Given the description of an element on the screen output the (x, y) to click on. 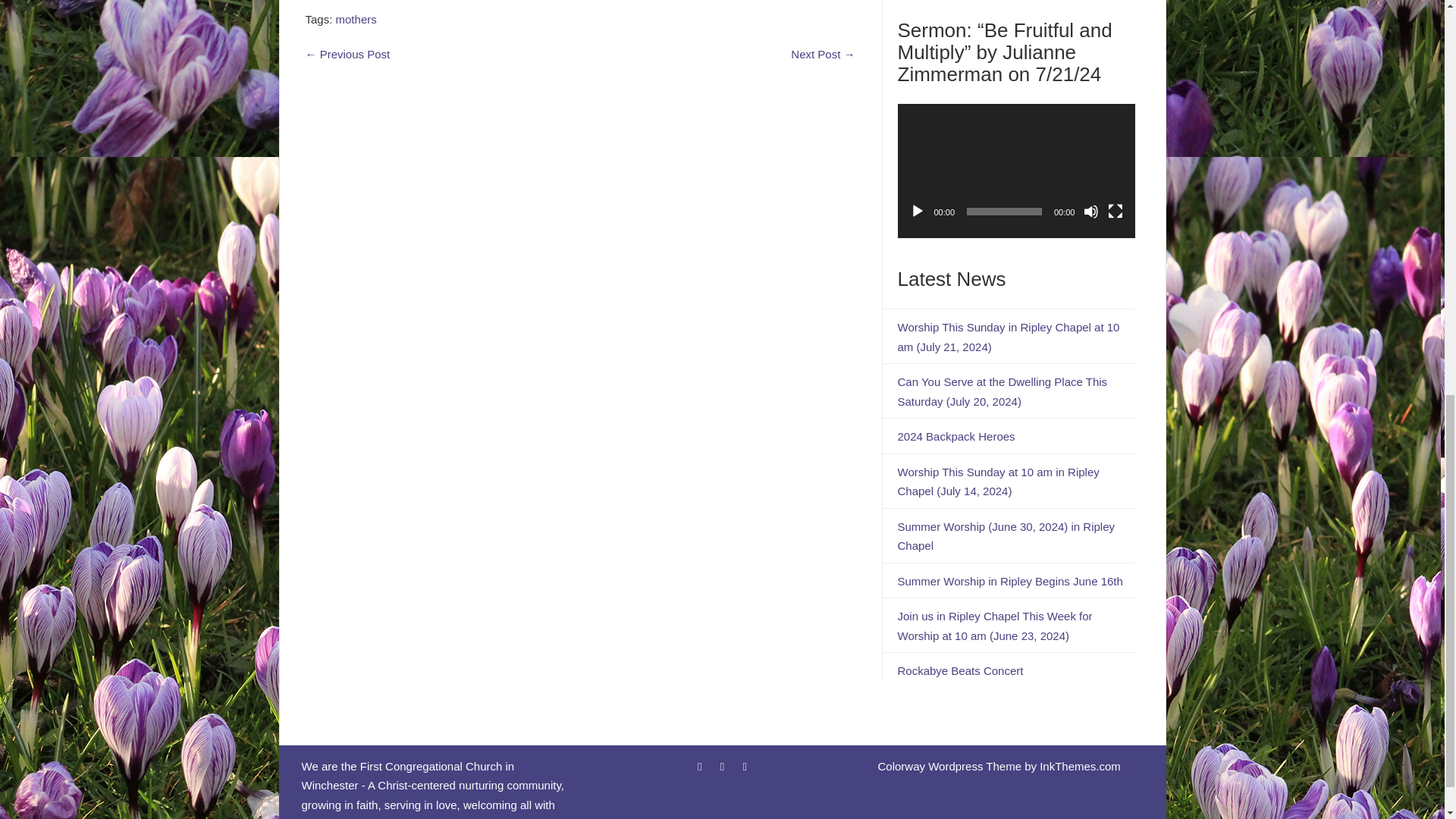
Play (917, 211)
Mute (1091, 211)
Fullscreen (1115, 211)
